Given the description of an element on the screen output the (x, y) to click on. 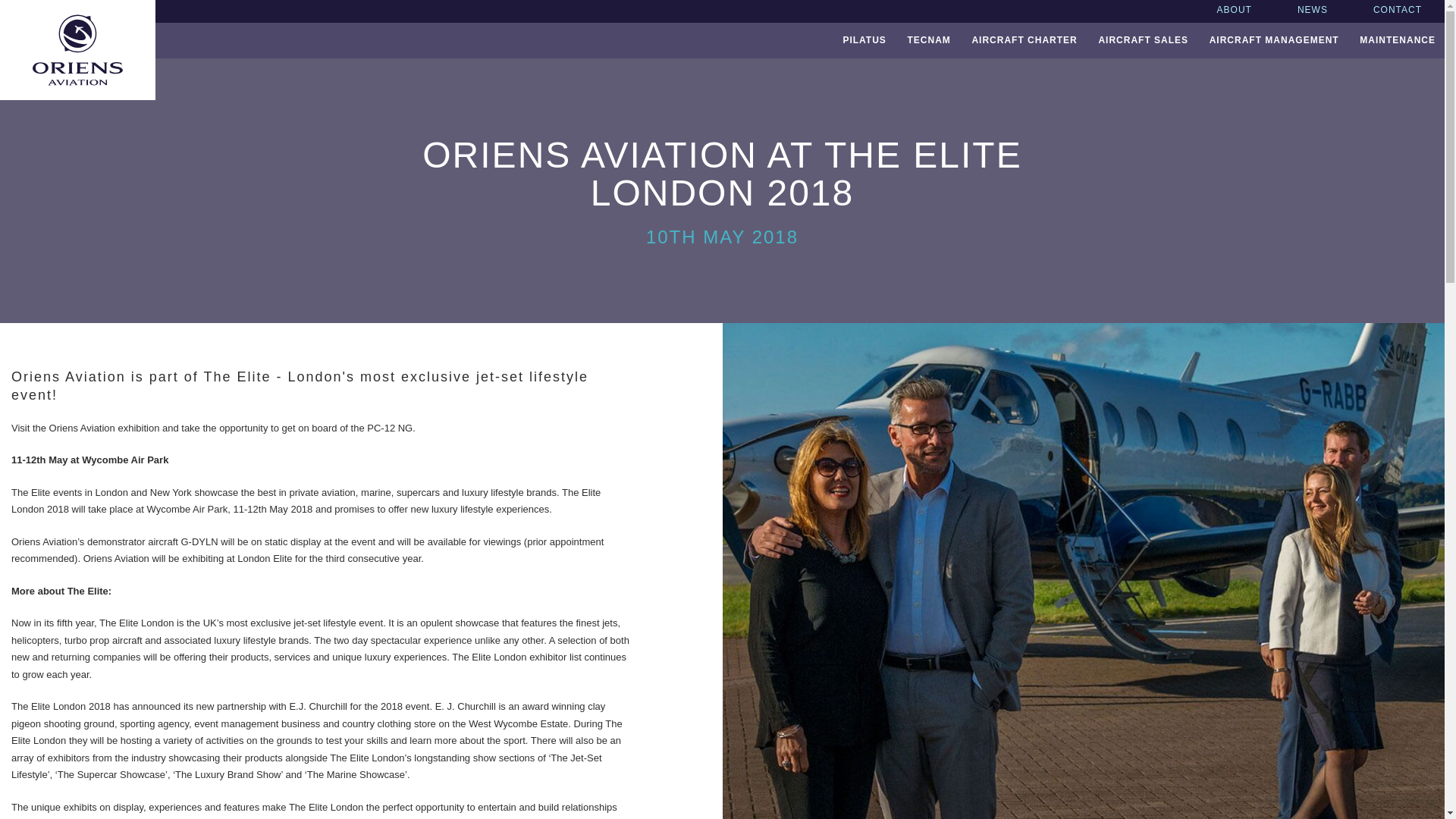
ABOUT (1234, 11)
AIRCRAFT MANAGEMENT (1273, 40)
NEWS (1313, 11)
AIRCRAFT CHARTER (1024, 40)
PILATUS (863, 40)
AIRCRAFT SALES (1142, 40)
TECNAM (928, 40)
